Given the description of an element on the screen output the (x, y) to click on. 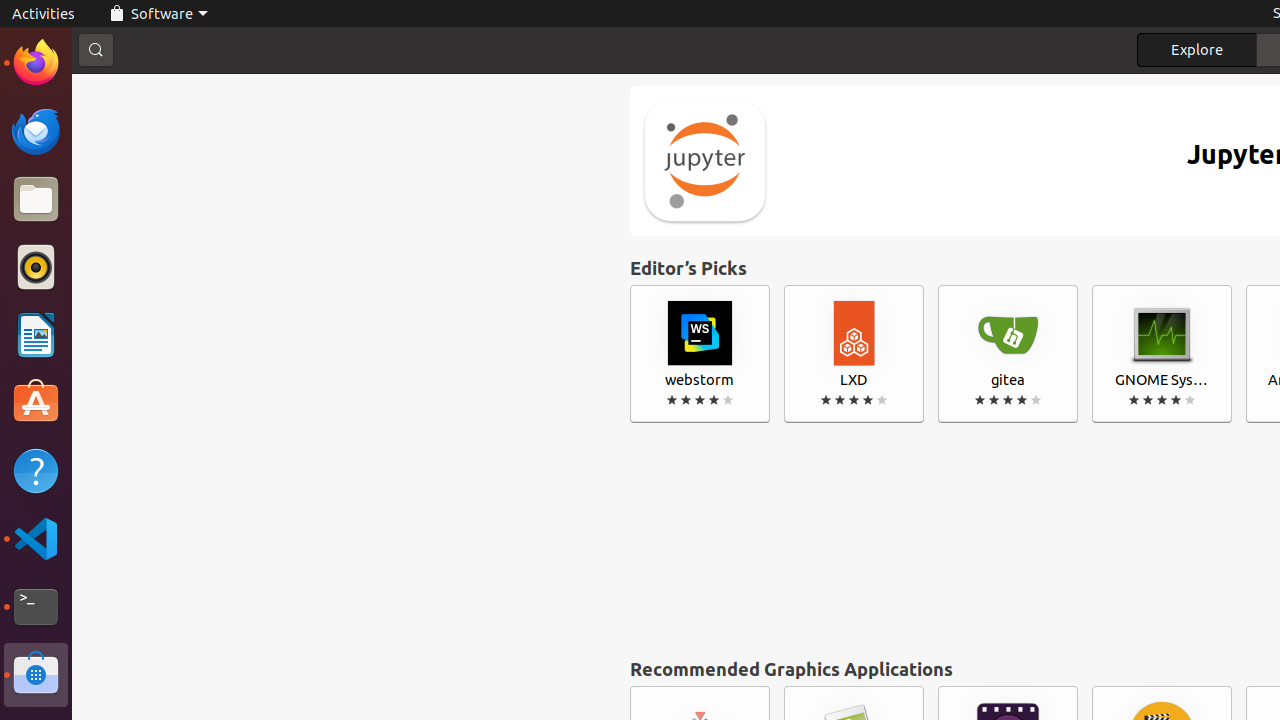
Software Element type: menu (158, 13)
Software Element type: push-button (36, 675)
